Given the description of an element on the screen output the (x, y) to click on. 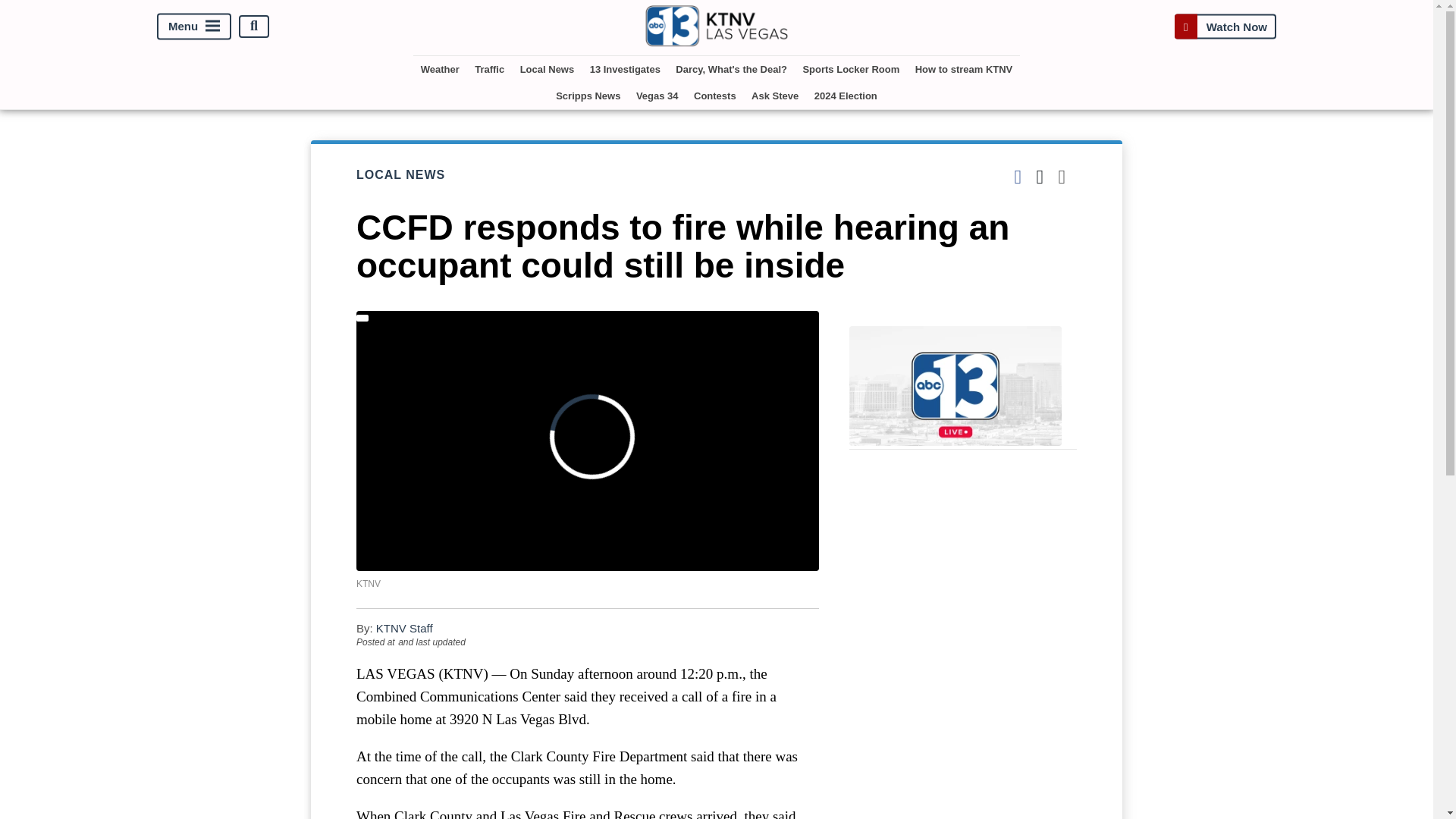
Menu (194, 26)
Watch Now (1224, 25)
